Given the description of an element on the screen output the (x, y) to click on. 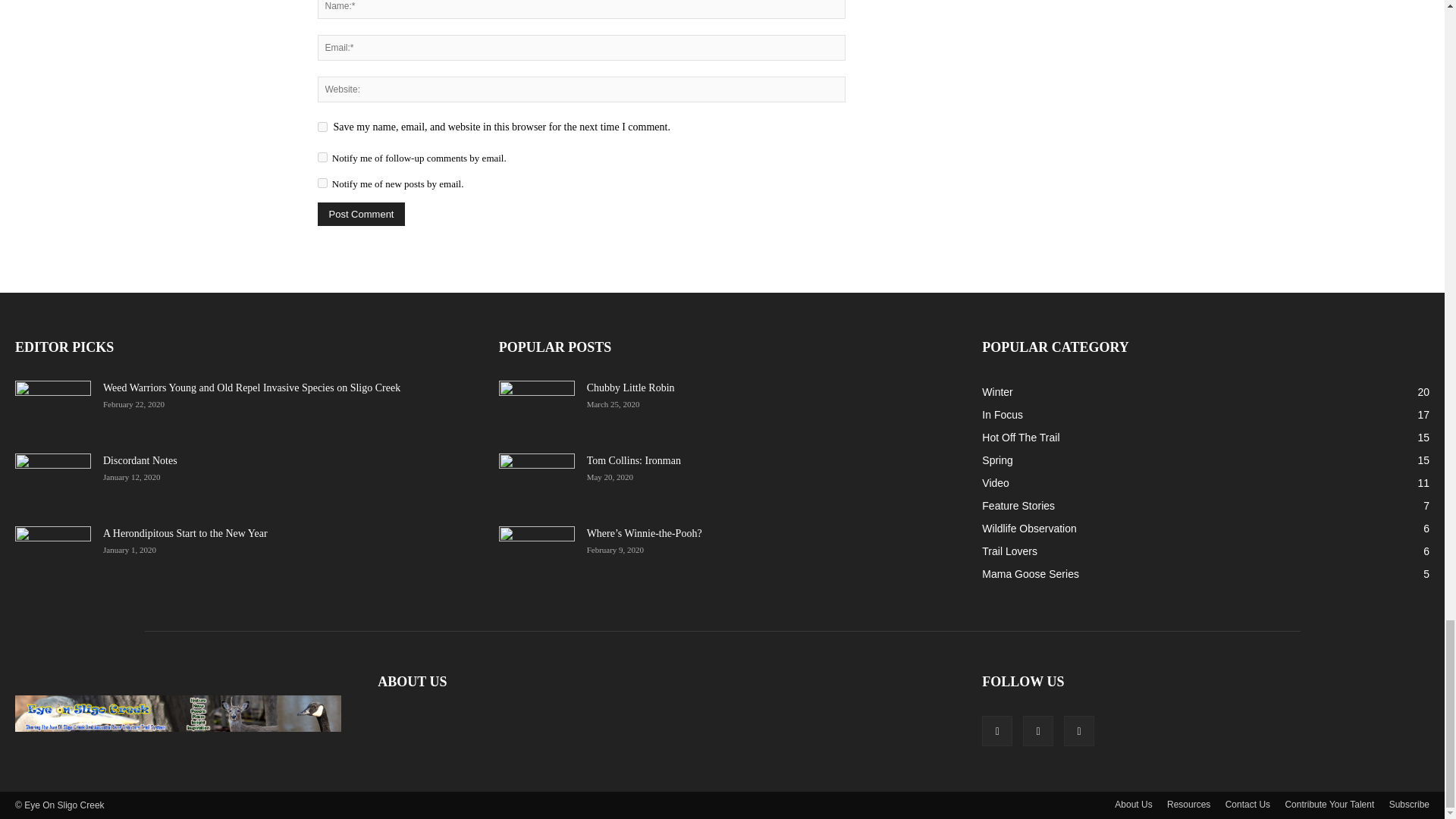
Post Comment (360, 214)
yes (321, 126)
subscribe (321, 157)
subscribe (321, 183)
